Given the description of an element on the screen output the (x, y) to click on. 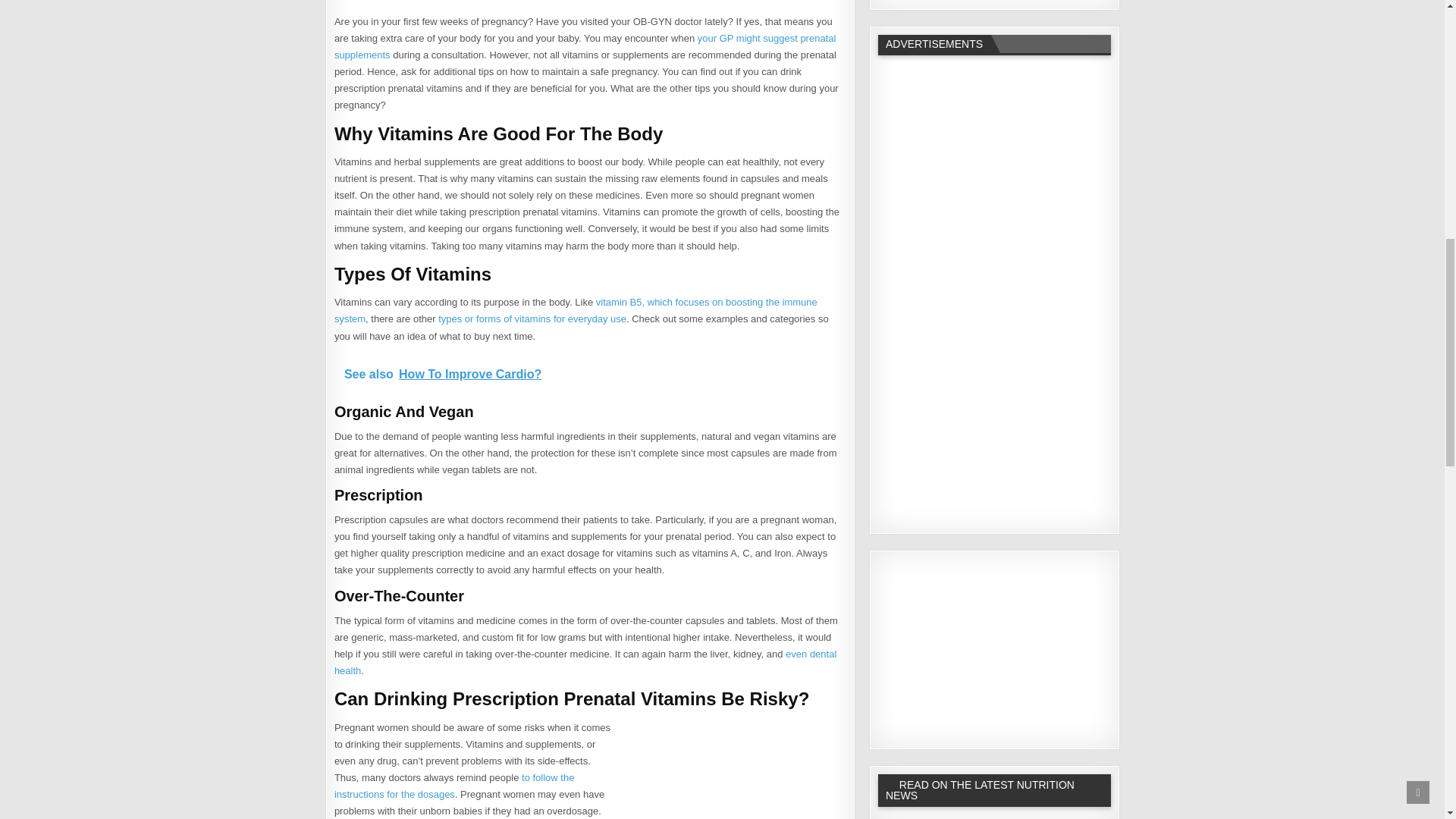
See also  How To Improve Cardio? (589, 373)
your GP might suggest prenatal supplements (584, 46)
even dental health (584, 662)
to follow the instructions for the dosages (454, 786)
types or forms of vitamins for everyday use (532, 318)
vitamin B5, which focuses on boosting the immune system (575, 310)
